Given the description of an element on the screen output the (x, y) to click on. 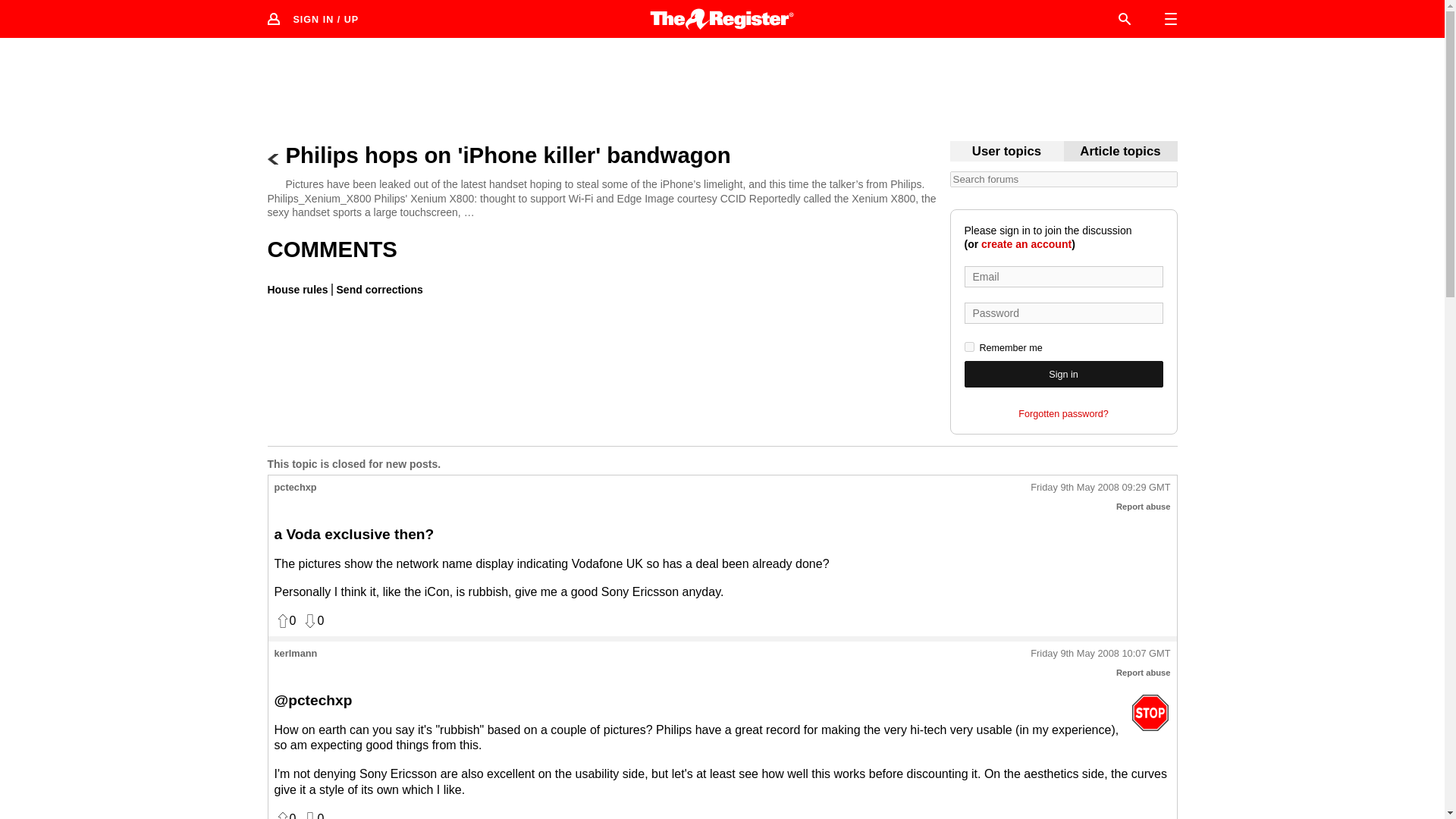
Inappropriate post? Report it to our moderators (1143, 672)
Commentards, Commentards, Commentards (1006, 151)
yes (968, 347)
Permalink to this post (1100, 653)
Dislike this post? Vote it down! (312, 815)
Permalink to this post (1100, 487)
Like this post? Vote for it! (286, 620)
Inappropriate post? Report it to our moderators (1143, 506)
Stop this nonsense forthwith (1149, 712)
Spotted an error? Let us know. (377, 289)
